Given the description of an element on the screen output the (x, y) to click on. 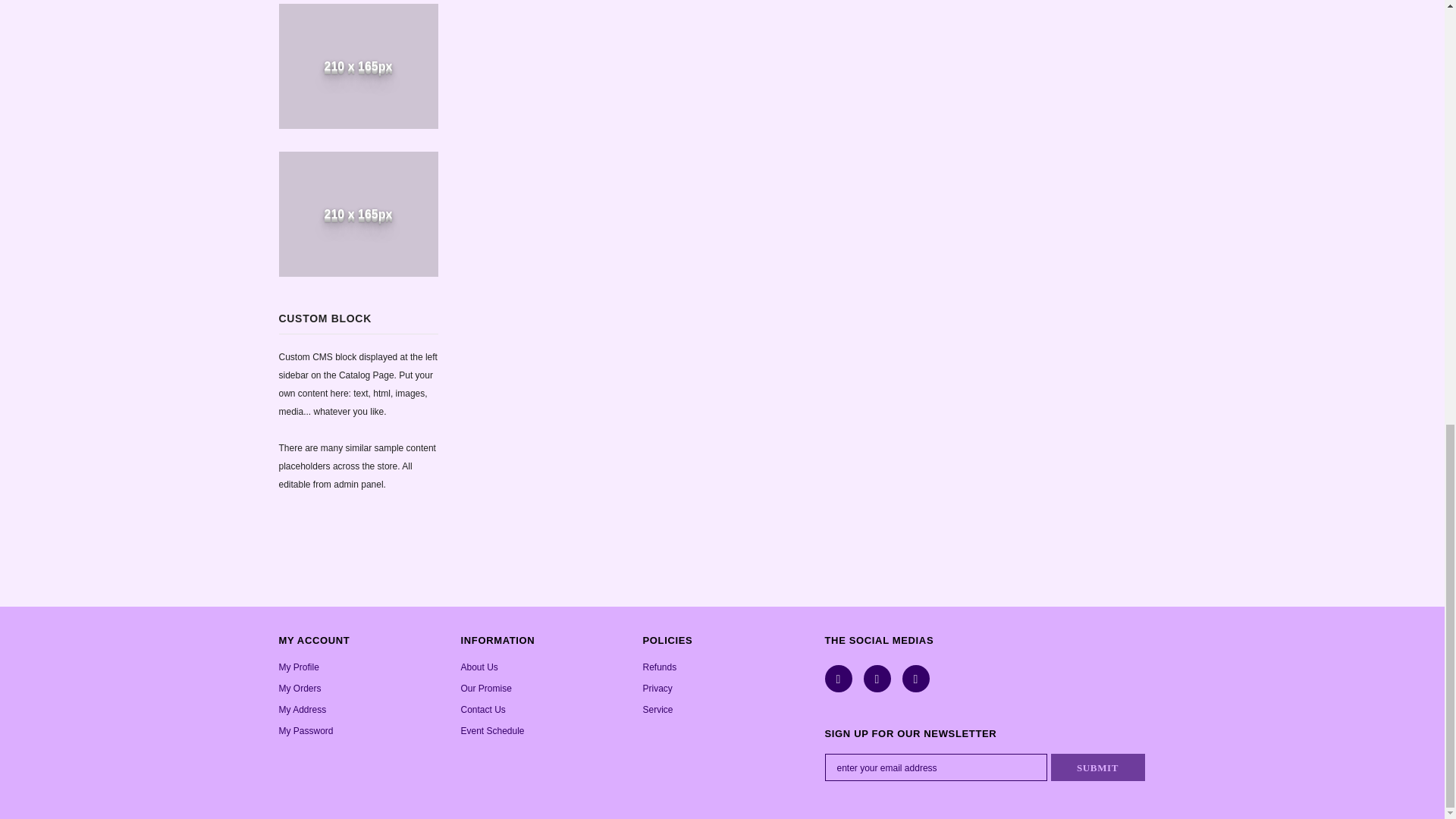
Submit (1097, 767)
